Given the description of an element on the screen output the (x, y) to click on. 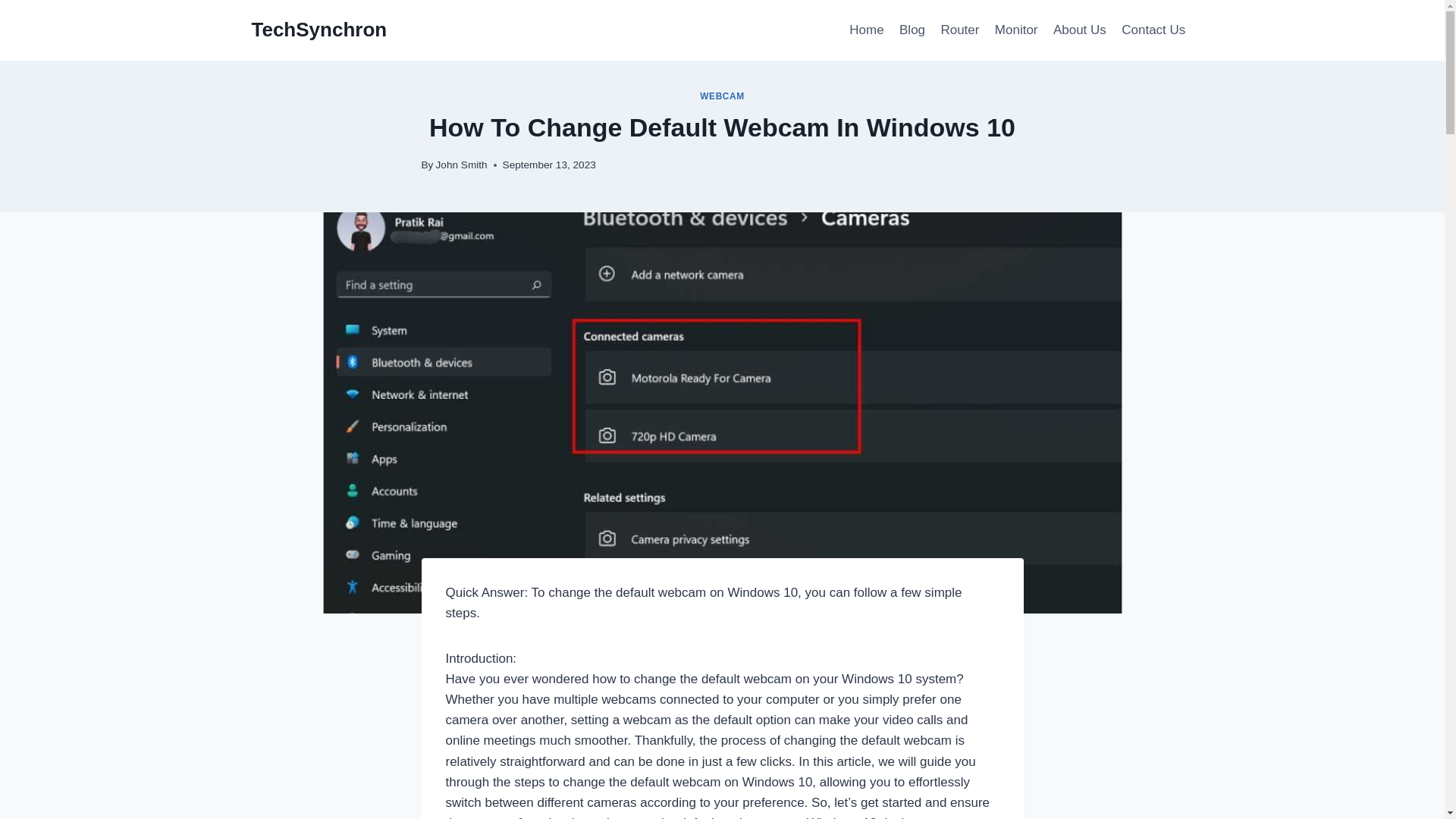
WEBCAM (722, 95)
Contact Us (1152, 30)
Blog (912, 30)
Monitor (1016, 30)
About Us (1079, 30)
John Smith (461, 164)
Router (960, 30)
Home (866, 30)
TechSynchron (319, 29)
